Given the description of an element on the screen output the (x, y) to click on. 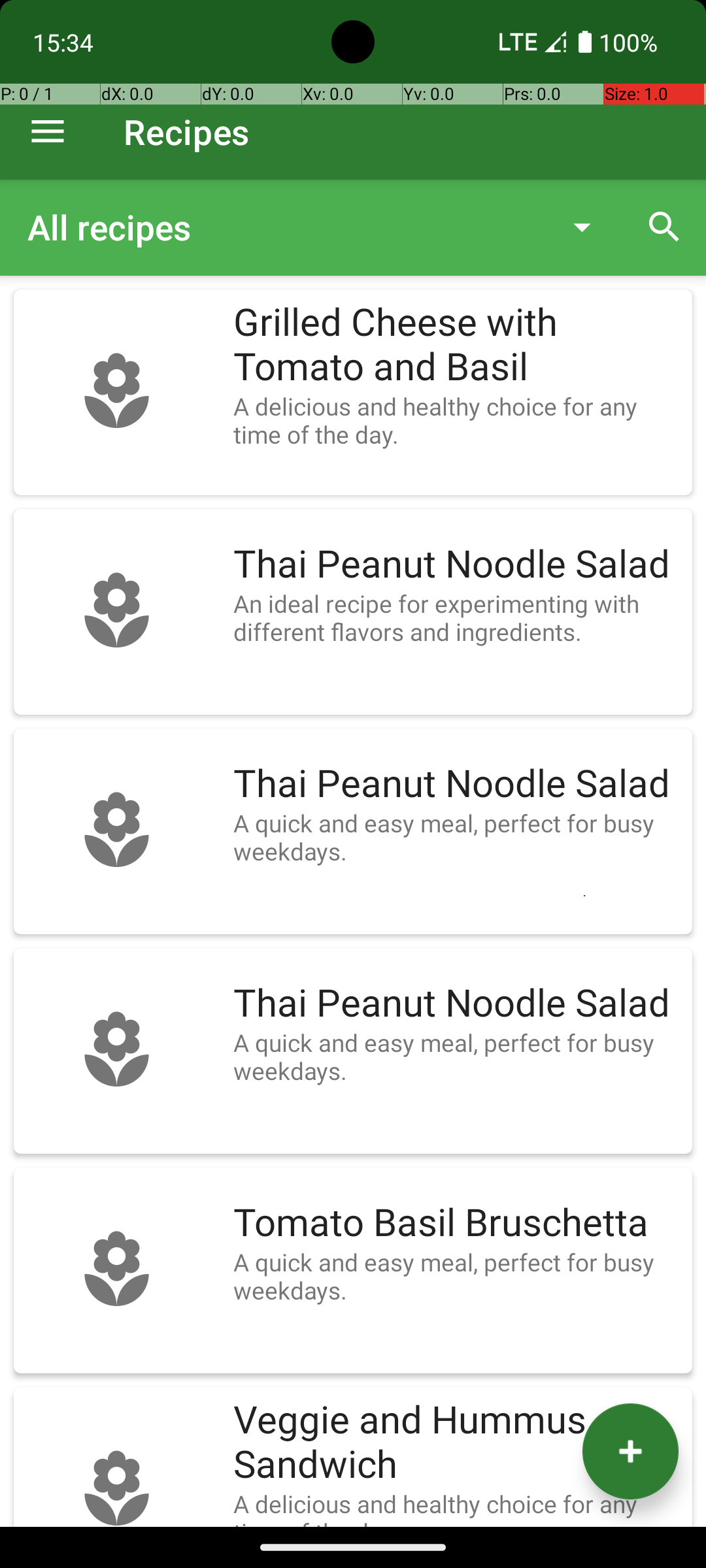
Thai Peanut Noodle Salad Element type: android.widget.TextView (455, 564)
Tomato Basil Bruschetta Element type: android.widget.TextView (455, 1222)
Veggie and Hummus Sandwich Element type: android.widget.TextView (455, 1442)
